Given the description of an element on the screen output the (x, y) to click on. 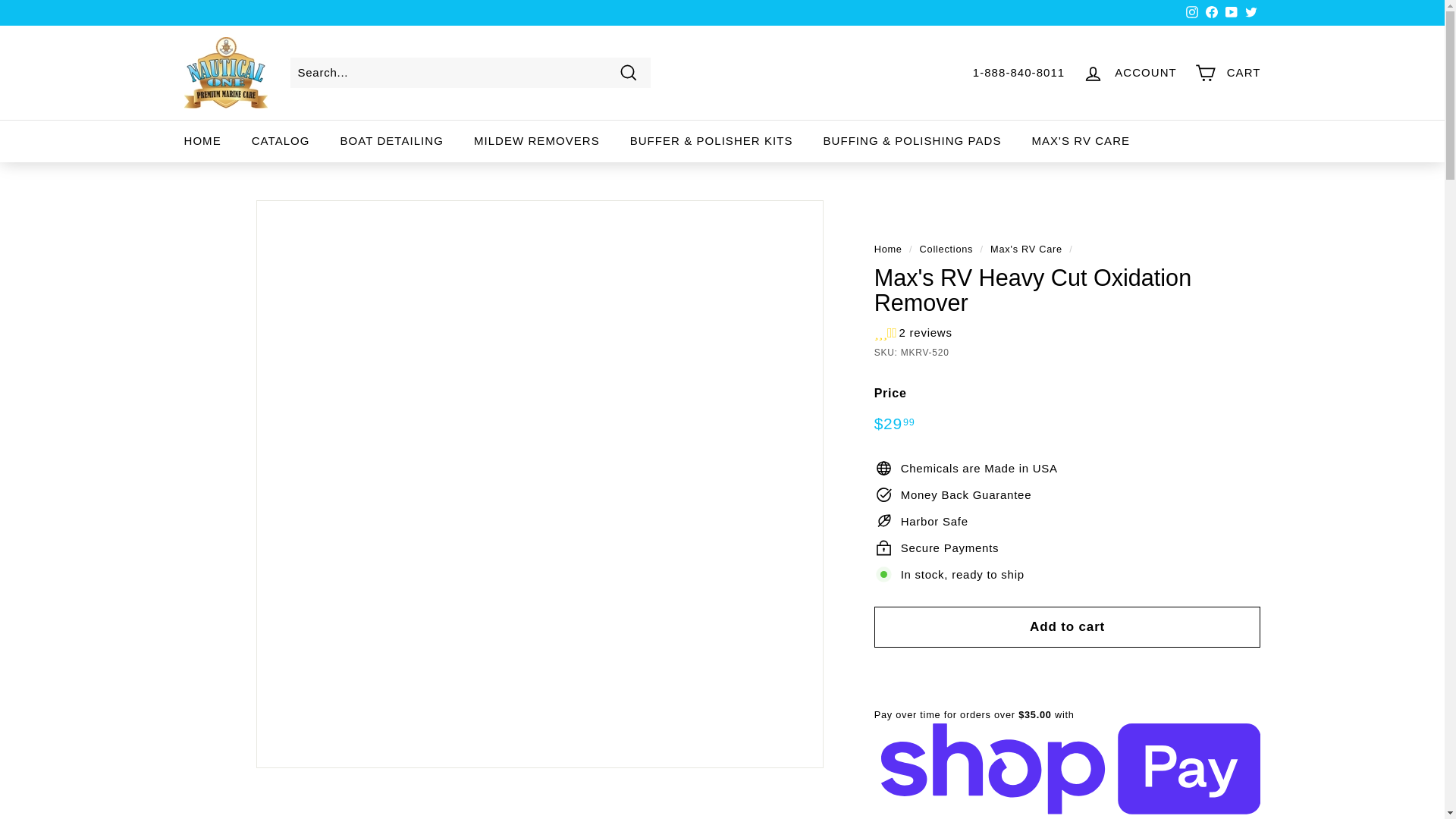
HOME (201, 140)
Back to the frontpage (888, 248)
ACCOUNT (1130, 72)
CATALOG (279, 140)
1-888-840-8011 (1018, 72)
BOAT DETAILING (391, 140)
